Given the description of an element on the screen output the (x, y) to click on. 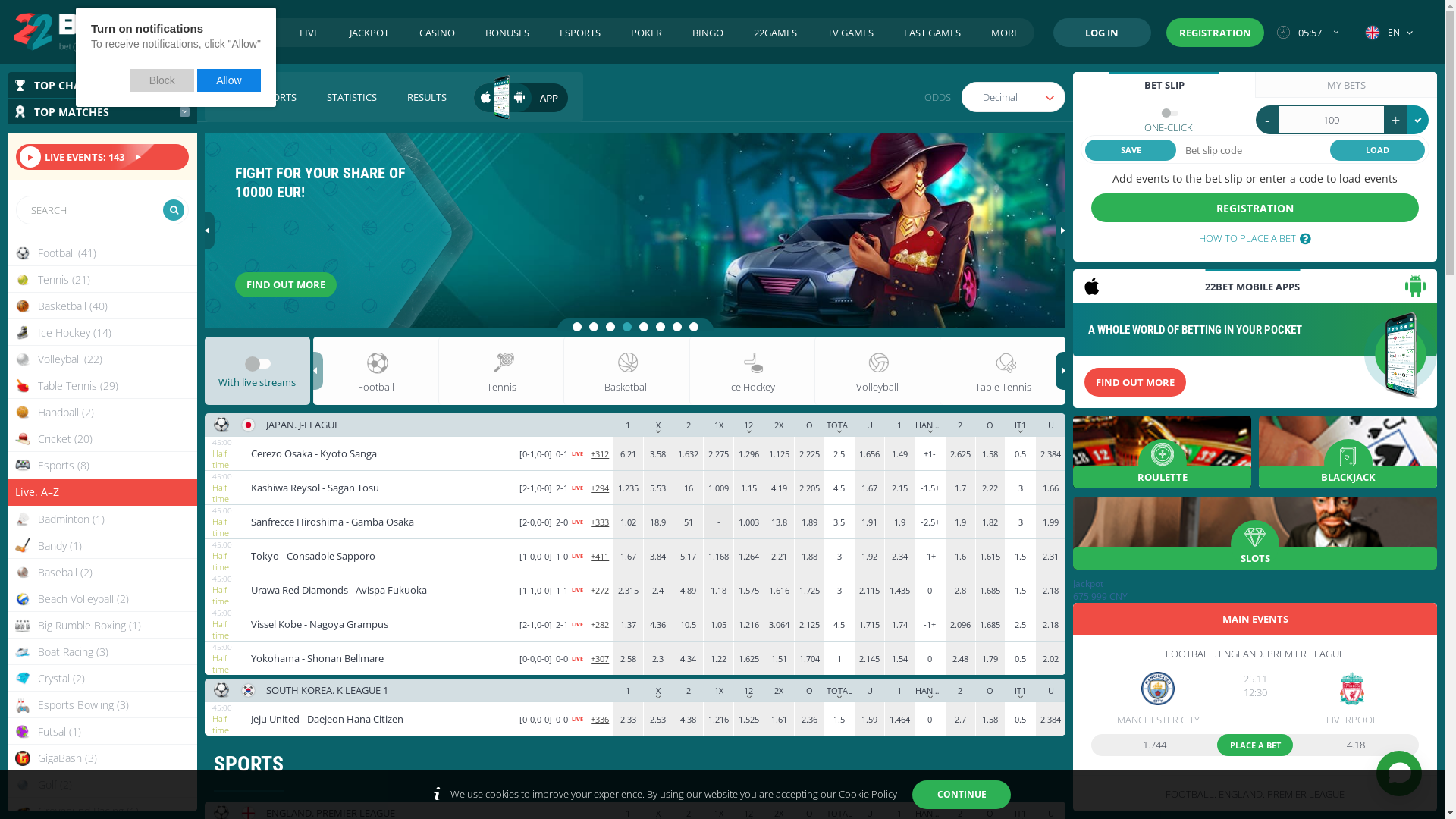
Volleyball Element type: text (876, 370)
Esports Bowling
(3) Element type: text (102, 704)
RESULTS Element type: text (426, 97)
SOUTH KOREA. K LEAGUE 1 Element type: text (327, 689)
Jackpot
675,999 CNY Element type: text (1255, 589)
FIND OUT MORE Element type: text (1135, 381)
Basketball
(40) Element type: text (102, 305)
Tokyo Consadole Sapporo Element type: text (379, 555)
Allow Element type: text (228, 80)
Bandy
(1) Element type: text (102, 545)
Los Angeles Clippers New Orleans Pelicans Element type: text (338, 779)
REGISTRATION Element type: text (1215, 32)
JAPAN. J-LEAGUE Element type: text (302, 424)
Tennis Element type: text (500, 370)
SLOTS Element type: text (1255, 532)
JACKPOT Element type: text (369, 32)
FAST GAMES Element type: text (931, 32)
MORE Element type: text (1004, 32)
BONUSES Element type: text (507, 32)
Crystal
(2) Element type: text (102, 678)
Esports
(8) Element type: text (102, 464)
Tennis
(21) Element type: text (102, 279)
Vissel Kobe Nagoya Grampus Element type: text (379, 623)
Urawa Red Diamonds Avispa Fukuoka Element type: text (379, 589)
NBA Element type: text (275, 750)
CASINO Element type: text (437, 32)
Volleyball
(21) Element type: text (102, 358)
GigaBash
(3) Element type: text (102, 757)
Table Tennis Element type: text (1001, 370)
SPORTS Element type: text (251, 32)
ROULETTE Element type: text (1162, 451)
22GAMES Element type: text (775, 32)
Baseball
(2) Element type: text (102, 571)
Yokohama Shonan Bellmare Element type: text (379, 657)
LEARN MORE Element type: text (284, 284)
ESPORTS Element type: text (579, 32)
Beach Volleyball
(2) Element type: text (102, 598)
Sanfrecce Hiroshima Gamba Osaka Element type: text (379, 521)
Boat Racing
(3) Element type: text (102, 651)
Kashiwa Reysol Sagan Tosu Element type: text (379, 487)
Basketball Element type: text (625, 370)
TV GAMES Element type: text (850, 32)
Handball
(2) Element type: text (102, 411)
Futsal
(1) Element type: text (102, 731)
Table Tennis
(28) Element type: text (102, 385)
VIRTUAL SPORTS Element type: text (257, 97)
Football Element type: text (375, 370)
LIVE Element type: text (309, 32)
STATISTICS Element type: text (351, 97)
Ice Hockey
(14) Element type: text (102, 332)
Block Element type: text (162, 80)
Jeju United Daejeon Hana Citizen Element type: text (379, 718)
Golf
(2) Element type: text (102, 784)
BLACKJACK Element type: text (1347, 451)
Ice Hockey Element type: text (751, 370)
Cerezo Osaka Kyoto Sanga Element type: text (379, 453)
Football
(41) Element type: text (102, 252)
LIVE EVENTS: 143 Element type: text (101, 156)
Big Rumble Boxing
(1) Element type: text (102, 624)
Cookie Policy Element type: text (867, 793)
BINGO Element type: text (707, 32)
Cricket
(20) Element type: text (102, 438)
Badminton
(1) Element type: text (102, 518)
POKER Element type: text (646, 32)
